Given the description of an element on the screen output the (x, y) to click on. 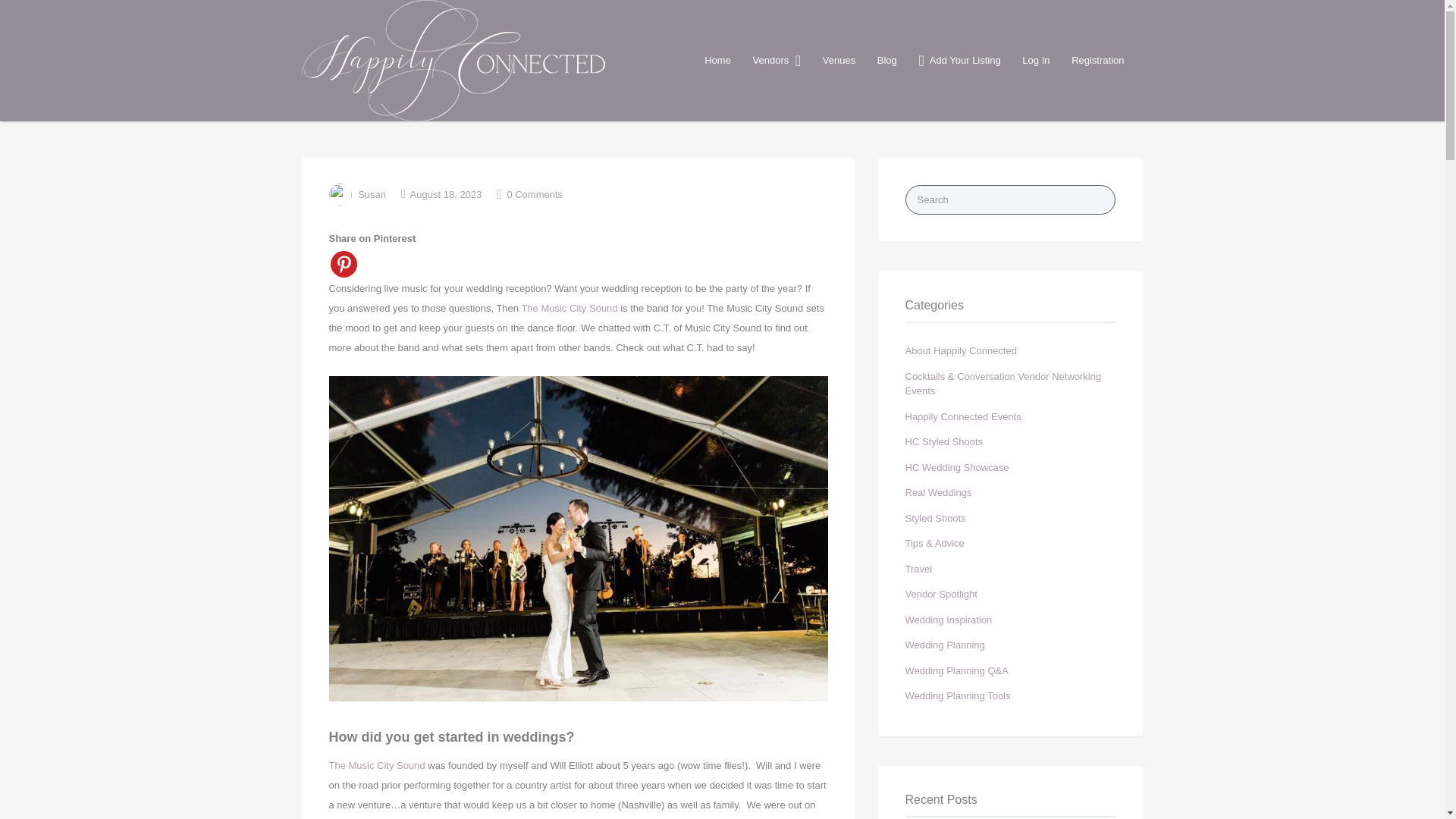
Registration (1097, 60)
Pinterest (343, 263)
Add Your Listing (956, 60)
Search for: (1010, 199)
